Given the description of an element on the screen output the (x, y) to click on. 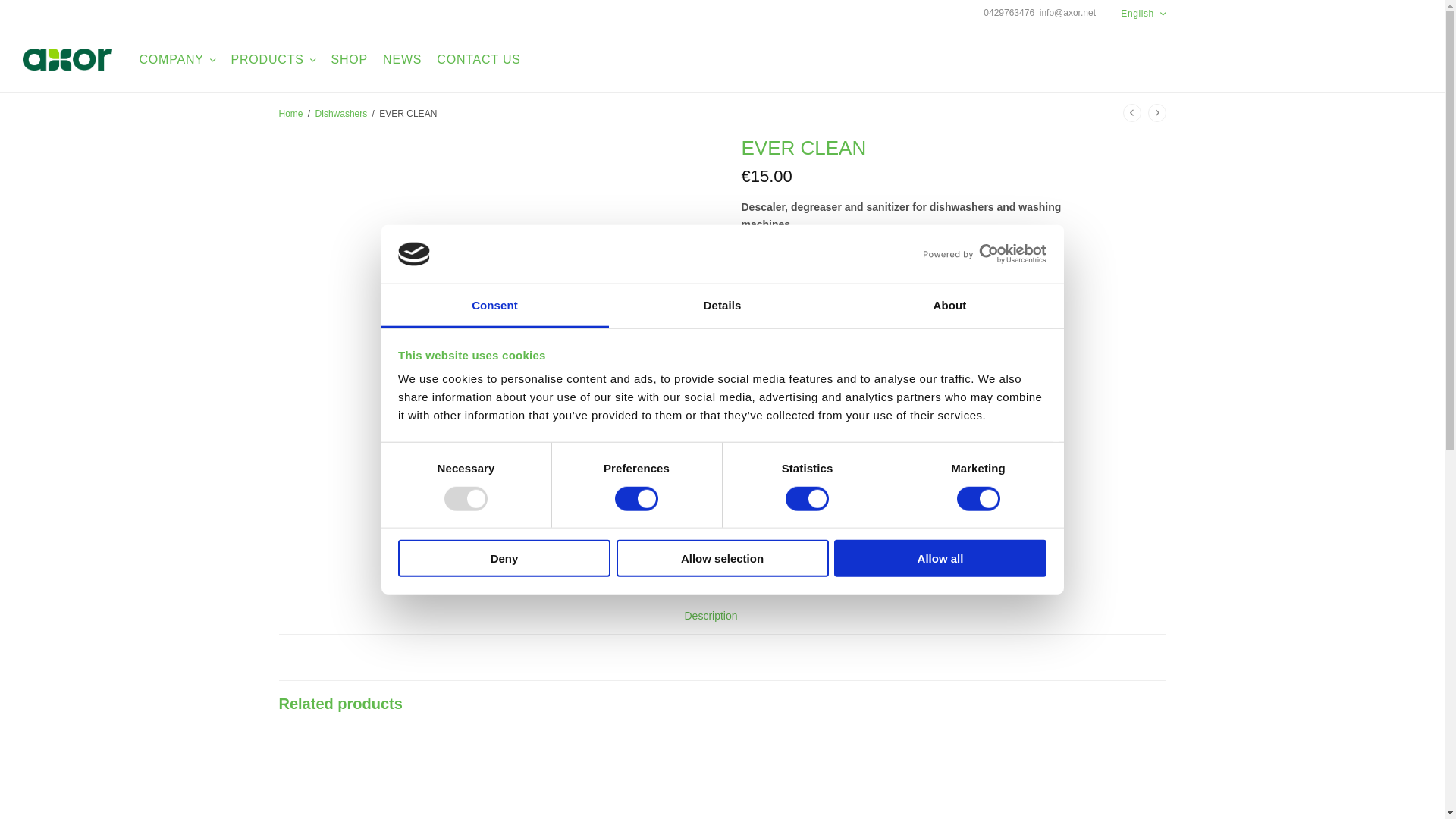
Allow selection (721, 558)
K-KAL (836, 776)
Allow all (940, 558)
About (948, 306)
Consent (494, 306)
Details (721, 306)
Axor (67, 59)
Deny (503, 558)
English (1143, 12)
K-SOL (608, 776)
DB17 (381, 776)
